Given the description of an element on the screen output the (x, y) to click on. 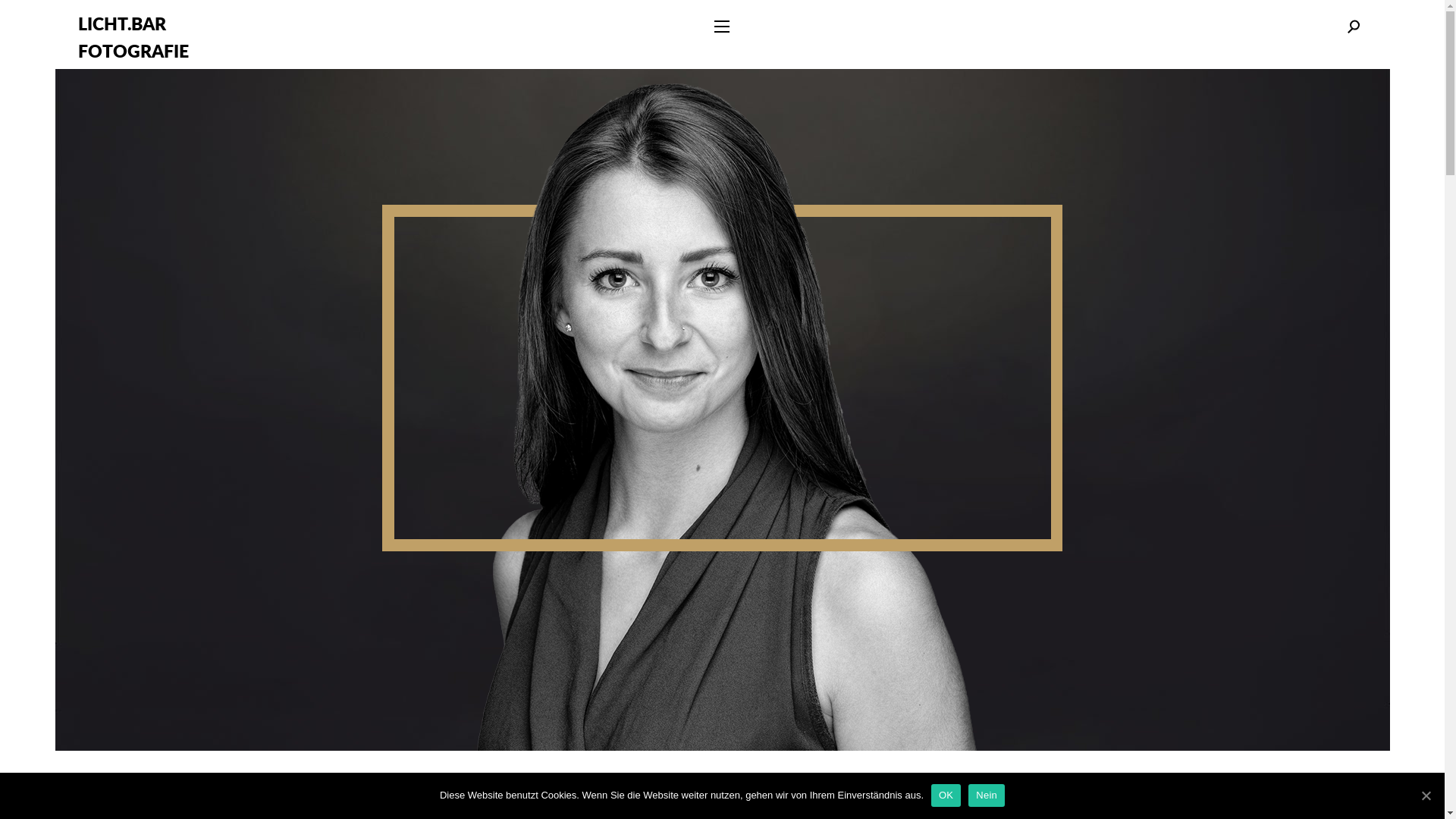
YOUTUBE Element type: text (606, 779)
Nein Element type: text (986, 795)
LICHT.BAR FOTOGRAFIE Element type: text (132, 37)
FACEBOOK Element type: text (766, 779)
INSTAGRAM Element type: text (684, 779)
Toggle navigation Element type: text (721, 26)
TWITTER Element type: text (840, 779)
OK Element type: text (945, 795)
